Given the description of an element on the screen output the (x, y) to click on. 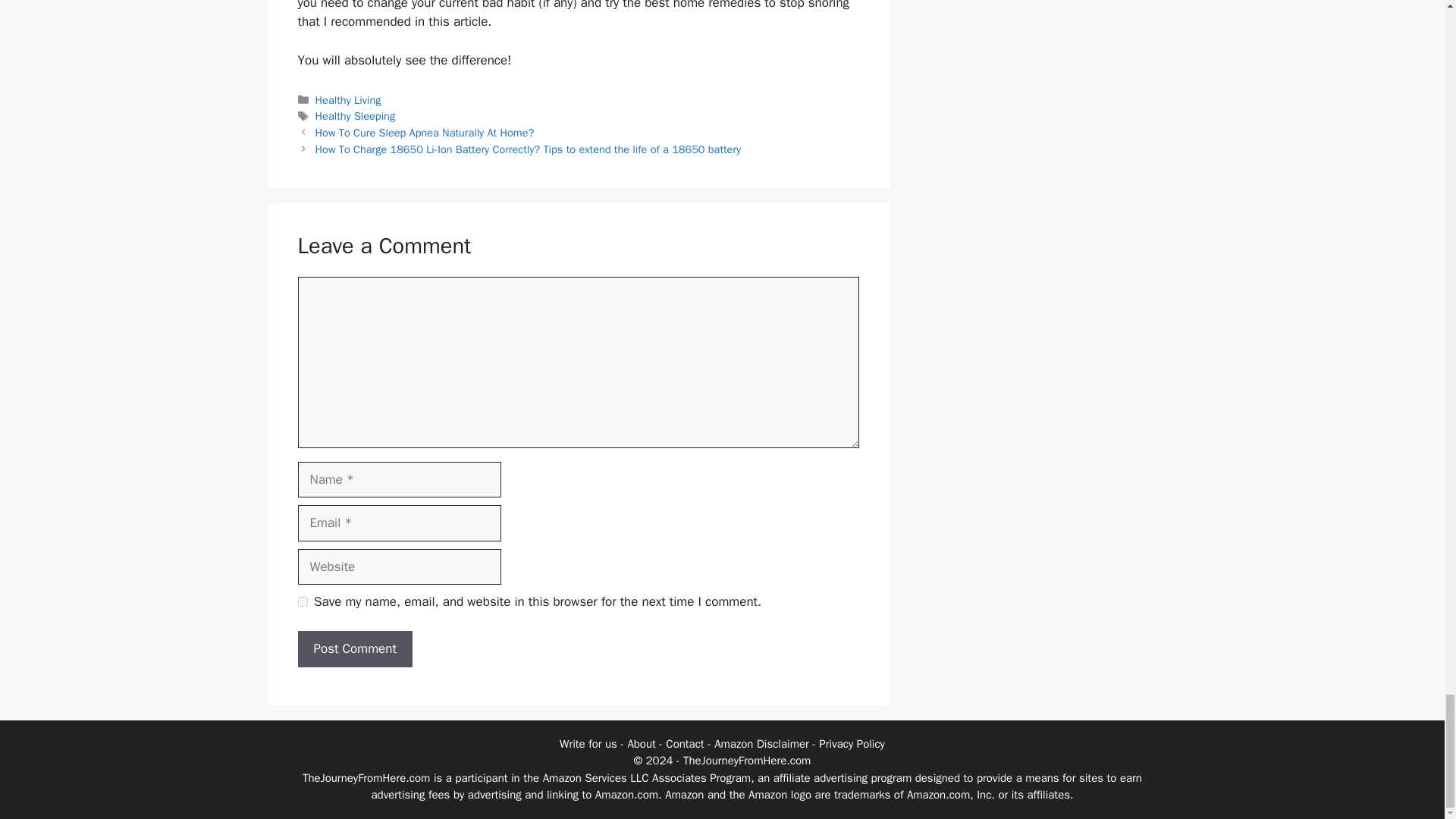
How To Cure Sleep Apnea Naturally At Home? (424, 132)
Healthy Sleeping (355, 115)
Healthy Living (348, 100)
Post Comment (354, 648)
yes (302, 601)
